Given the description of an element on the screen output the (x, y) to click on. 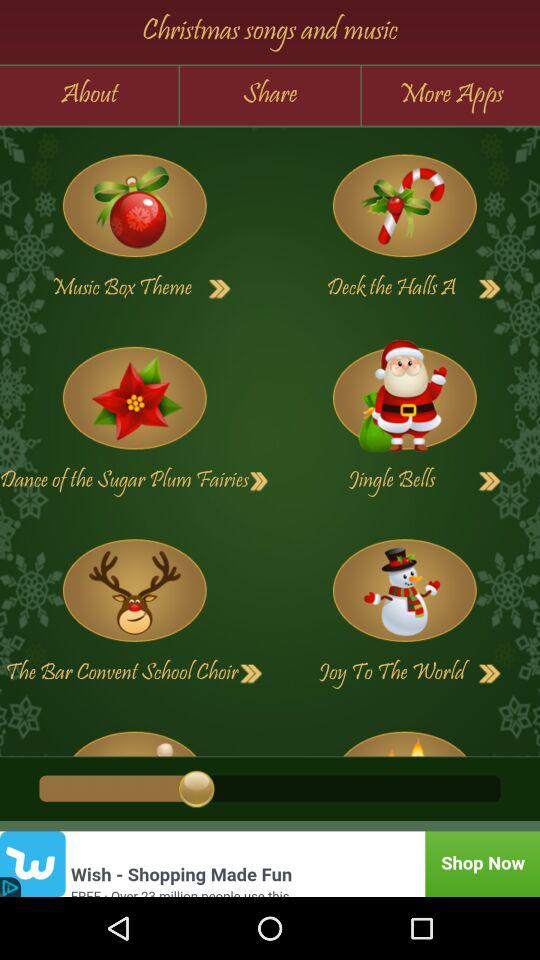
more details (490, 289)
